Given the description of an element on the screen output the (x, y) to click on. 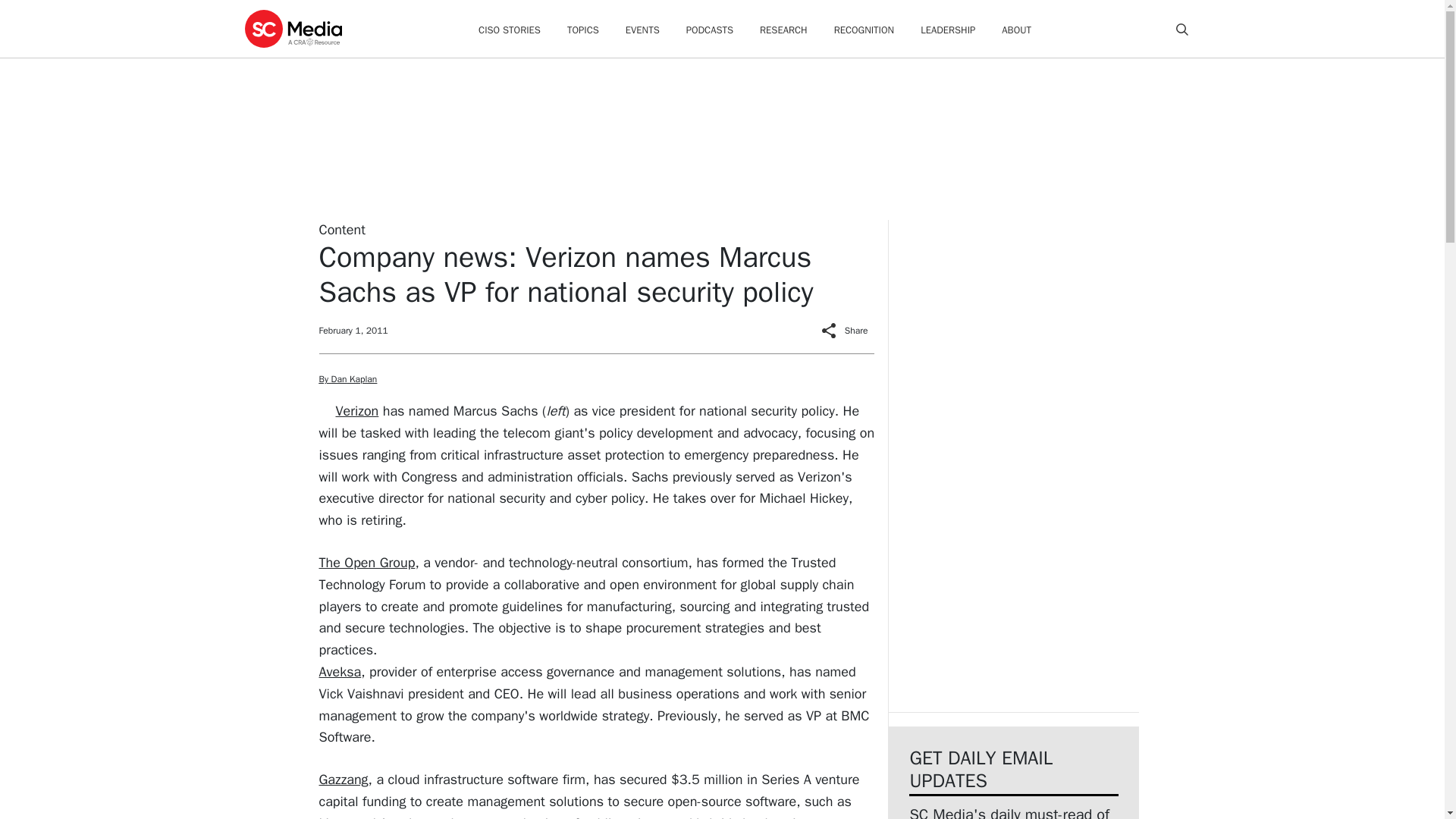
RECOGNITION (863, 30)
CISO STORIES (509, 30)
LEADERSHIP (947, 30)
SC Media (292, 27)
The Open Group (366, 562)
Aveksa (339, 671)
By Dan Kaplan (347, 378)
RESEARCH (784, 30)
ABOUT (1015, 30)
EVENTS (642, 30)
Content (341, 229)
Verizon (356, 410)
PODCASTS (709, 30)
TOPICS (582, 30)
Gazzang (343, 779)
